Given the description of an element on the screen output the (x, y) to click on. 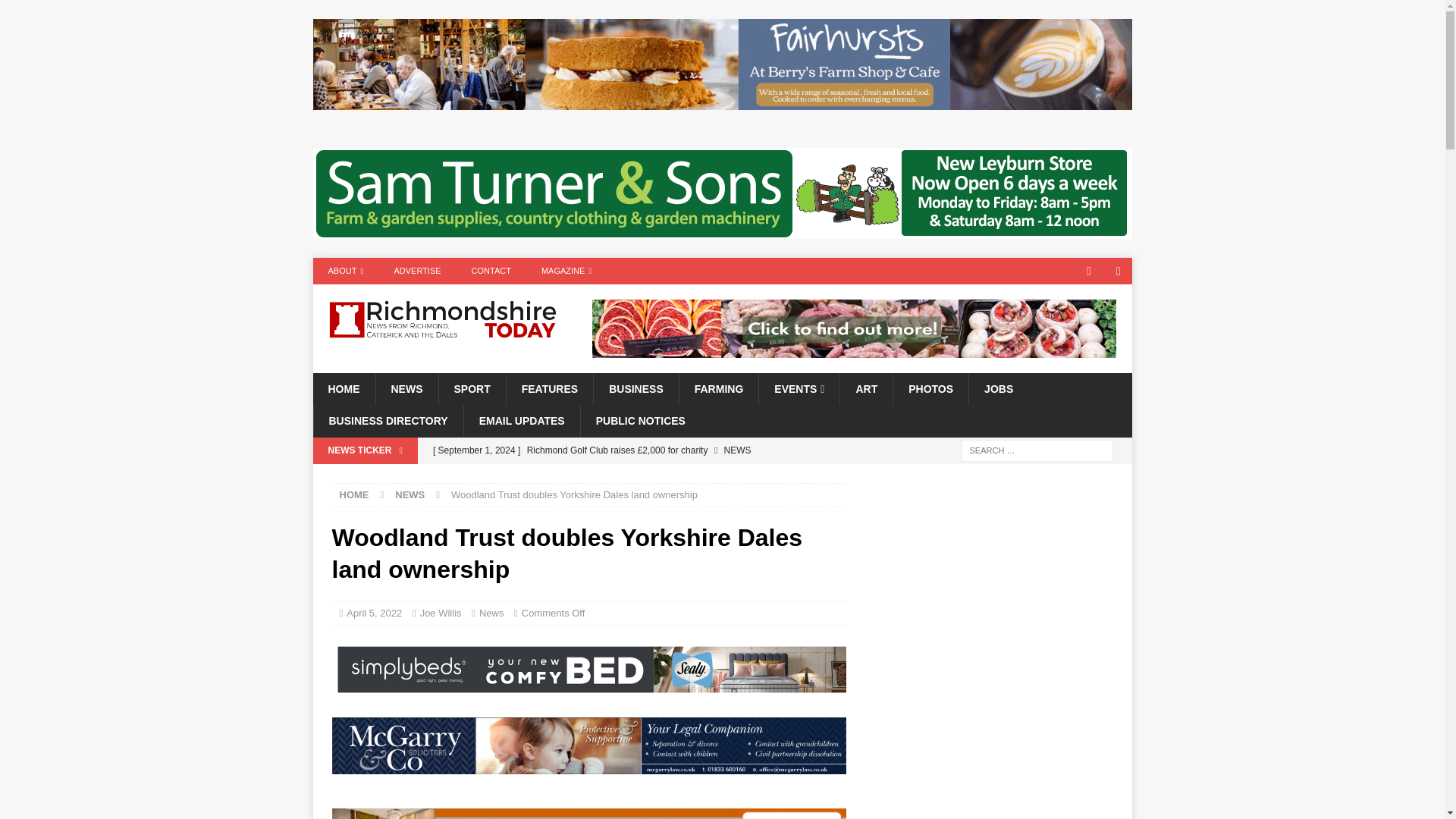
BUSINESS (635, 388)
NEWS (406, 388)
CONTACT (491, 270)
ADVERTISE (416, 270)
FEATURES (548, 388)
JOBS (997, 388)
Search (56, 11)
BUSINESS DIRECTORY (388, 420)
PUBLIC NOTICES (639, 420)
MAGAZINE (566, 270)
